Given the description of an element on the screen output the (x, y) to click on. 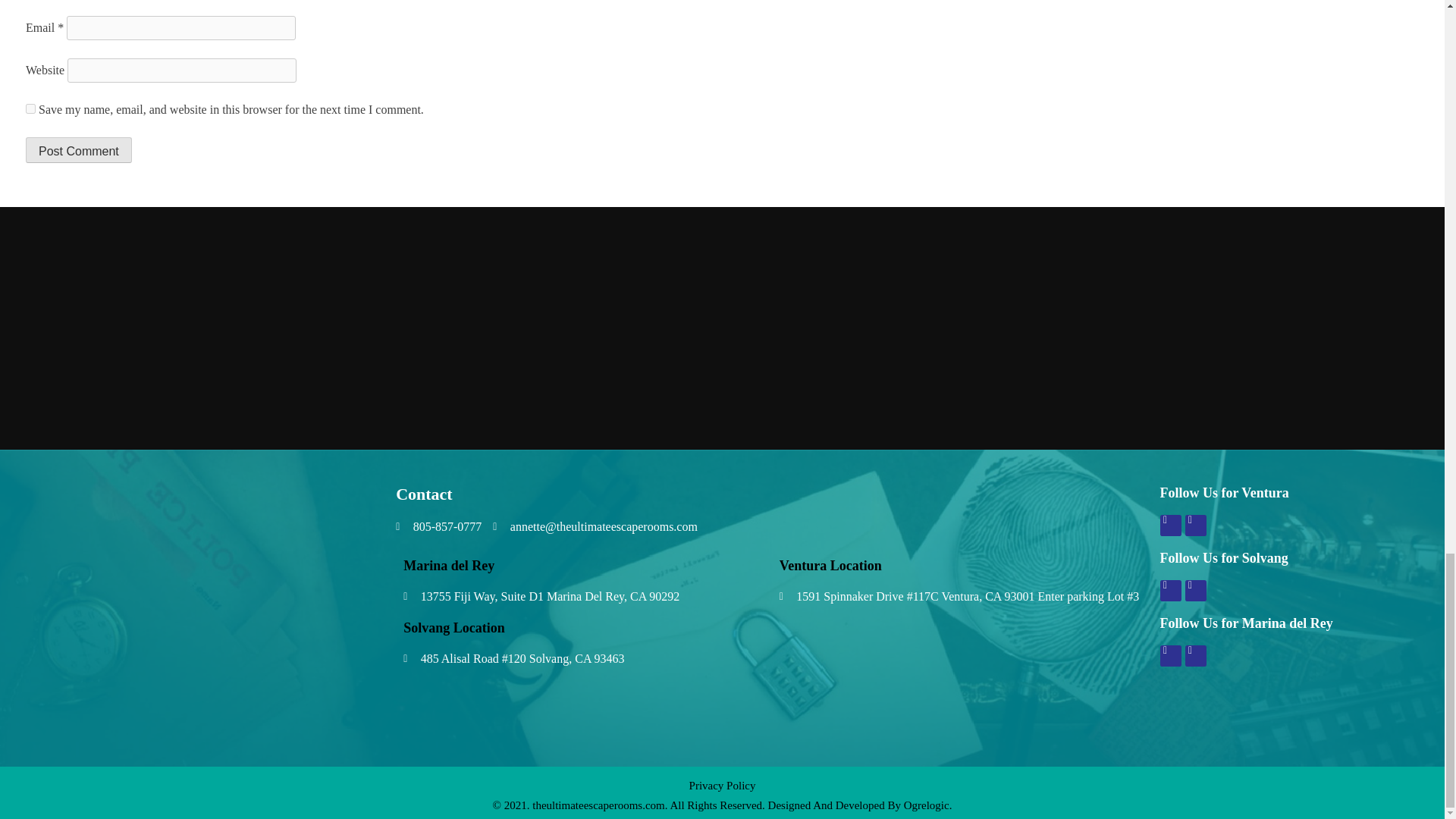
yes (30, 108)
Post Comment (79, 149)
Post Comment (79, 149)
